Given the description of an element on the screen output the (x, y) to click on. 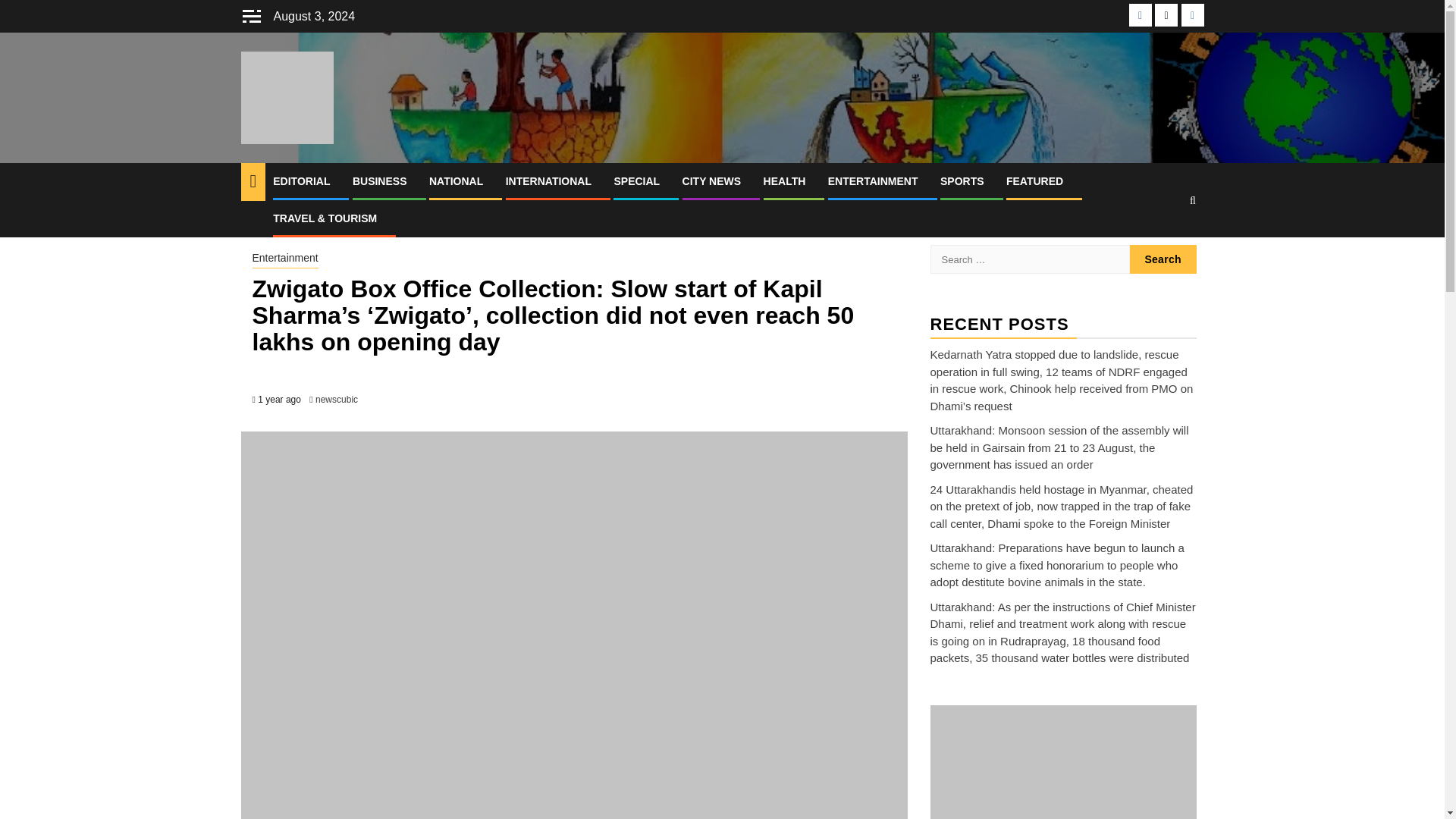
Instagram (1192, 15)
SPORTS (962, 181)
BUSINESS (379, 181)
SPECIAL (635, 181)
HEALTH (784, 181)
Twitter (1165, 15)
CITY NEWS (711, 181)
ENTERTAINMENT (873, 181)
EDITORIAL (301, 181)
Search (1162, 258)
Facebook (1140, 15)
NATIONAL (456, 181)
